Given the description of an element on the screen output the (x, y) to click on. 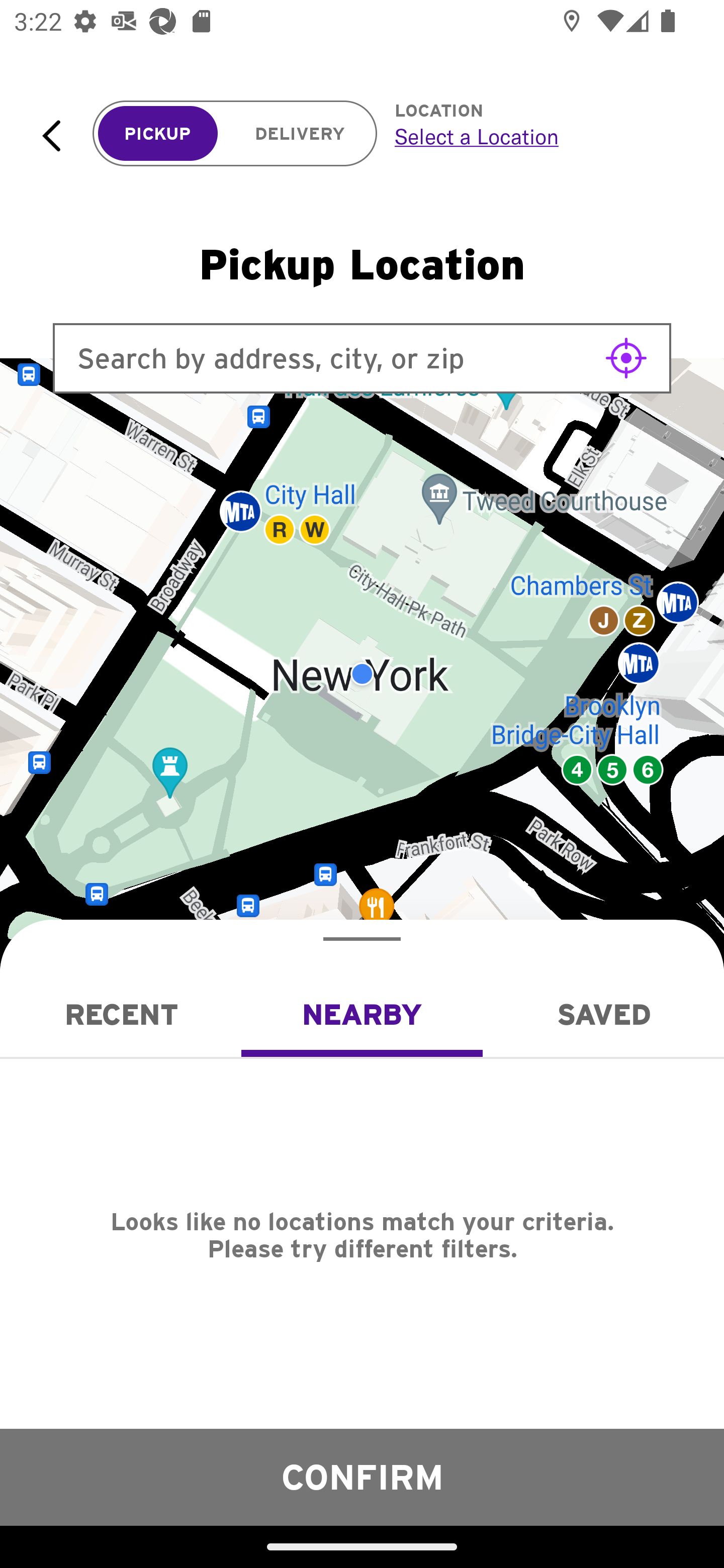
PICKUP (157, 133)
DELIVERY (299, 133)
Select a Location (536, 136)
Search by address, city, or zip (361, 358)
Google Map (362, 674)
Recent RECENT (120, 1014)
Saved SAVED (603, 1014)
CONFIRM (362, 1476)
